Given the description of an element on the screen output the (x, y) to click on. 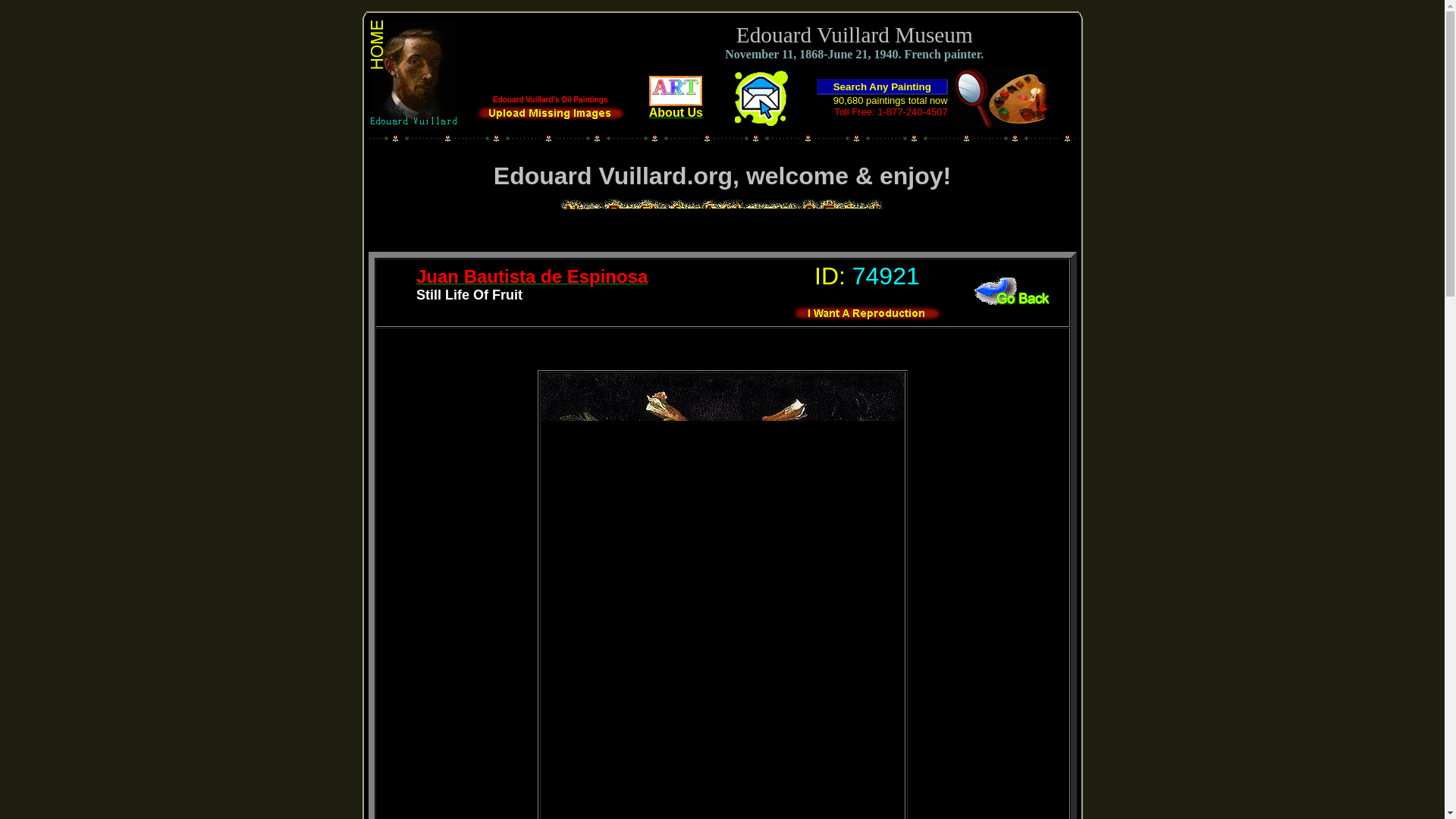
About Us (676, 106)
Search Any Painting (881, 86)
Juan Bautista de Espinosa (531, 278)
